Given the description of an element on the screen output the (x, y) to click on. 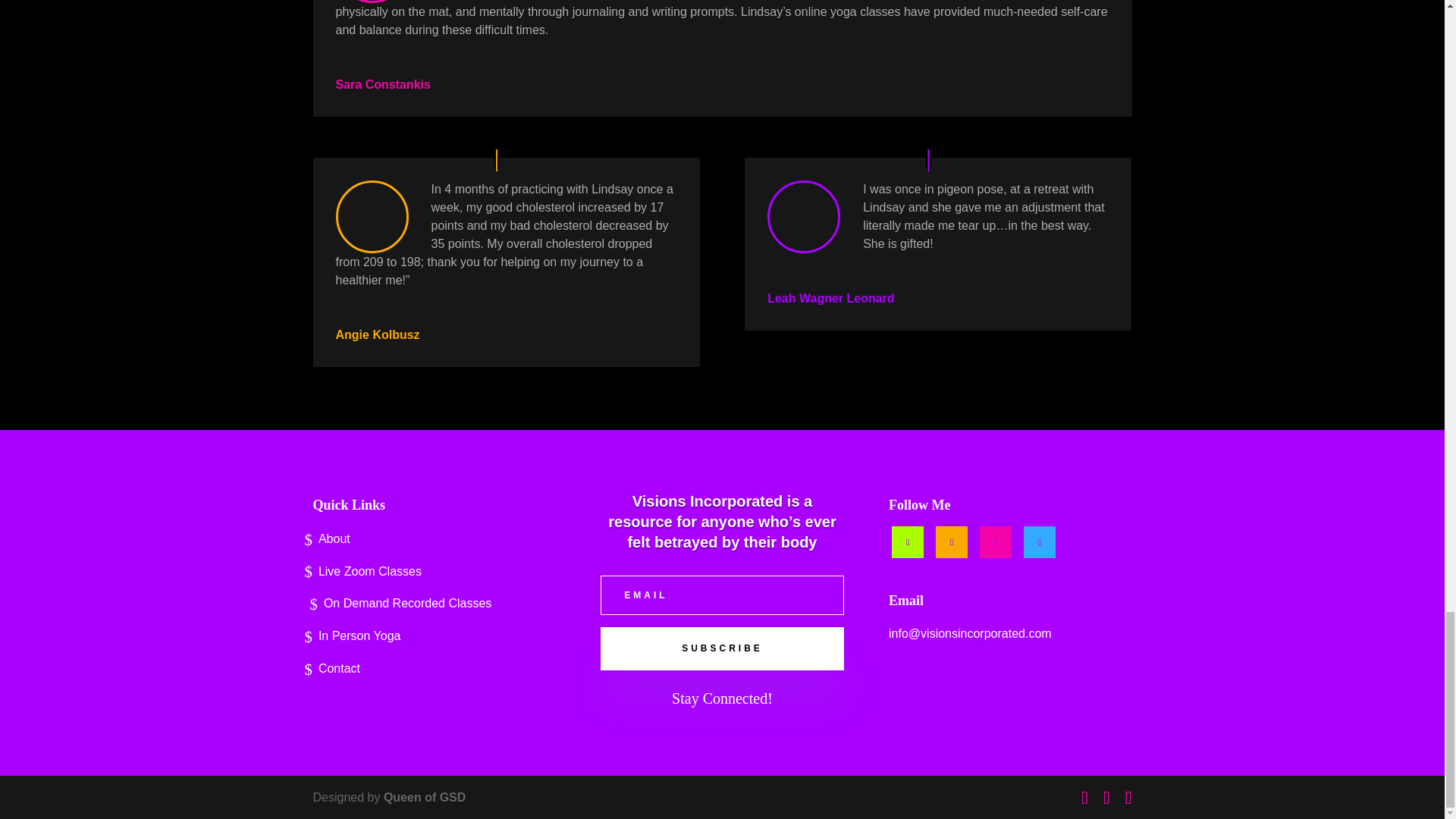
SUBSCRIBE (721, 648)
Contact (434, 671)
Follow on LinkedIn (952, 541)
Queen of GSD (424, 797)
Follow on Youtube (995, 541)
Follow on Facebook (907, 541)
In Person Yoga (434, 639)
On Demand Recorded Classes (434, 606)
Follow on Instagram (1039, 541)
Live Zoom Classes (434, 574)
